Given the description of an element on the screen output the (x, y) to click on. 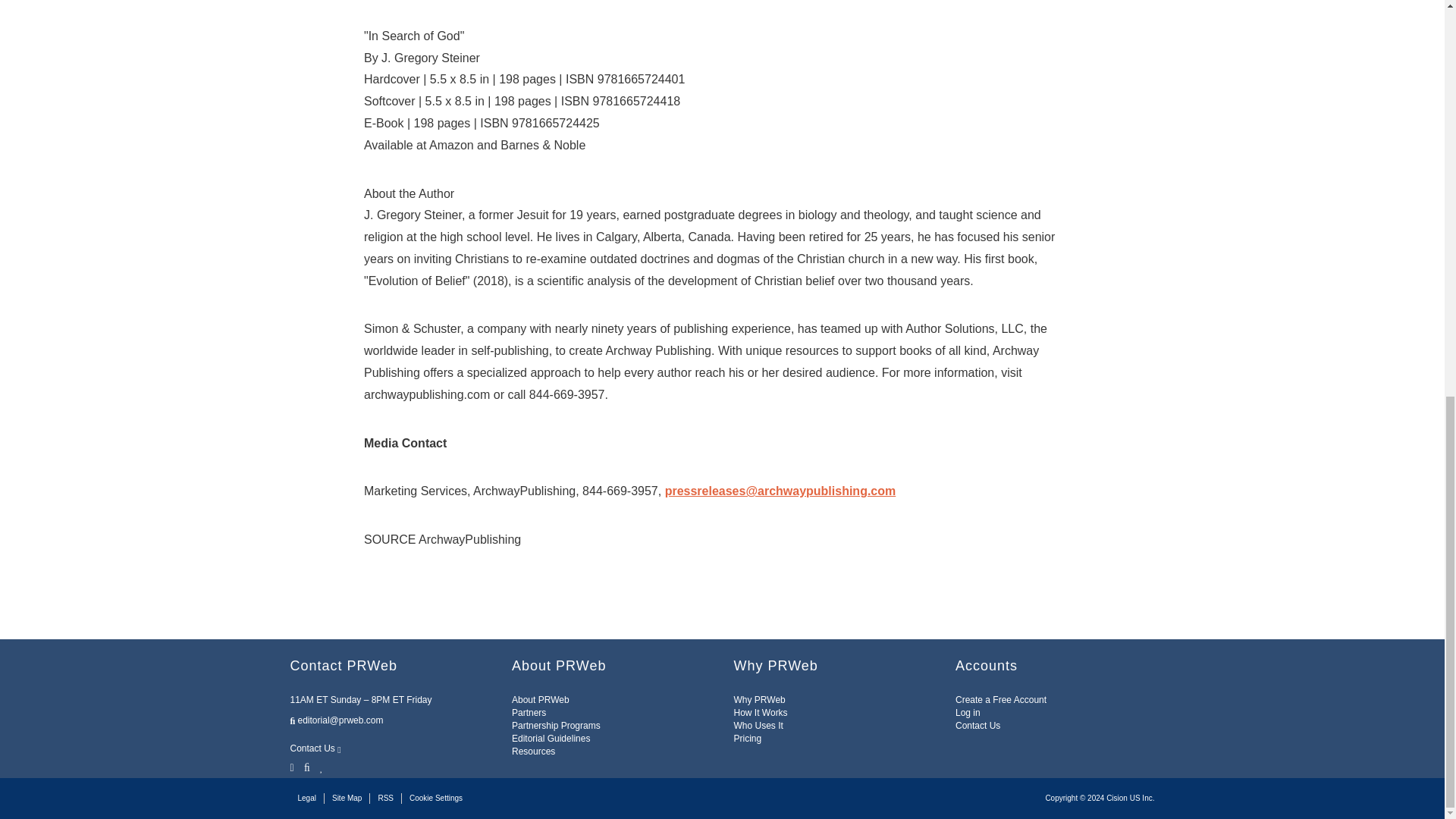
Facebook (306, 766)
Why PRWeb (759, 699)
About PRWeb (540, 699)
Partnership Programs (555, 725)
Resources (533, 751)
Partners (529, 712)
How It Works (760, 712)
Editorial Guidelines (550, 738)
